Given the description of an element on the screen output the (x, y) to click on. 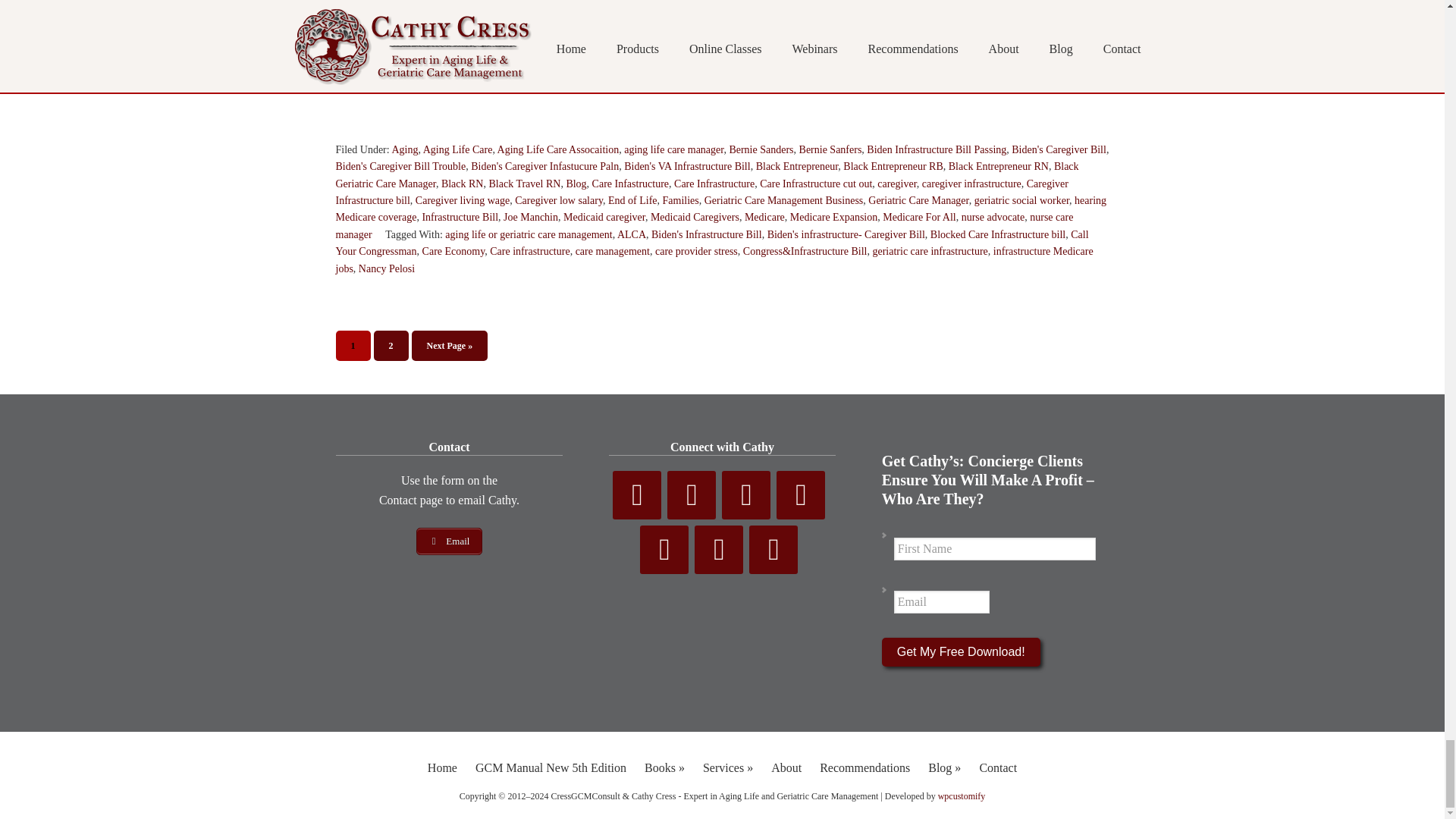
LinkedIn (664, 549)
Newsletter (718, 549)
Twitter (691, 494)
Facebook (636, 494)
Get My Free Download! (961, 652)
YouTube (746, 494)
Pinterest (800, 494)
